Given the description of an element on the screen output the (x, y) to click on. 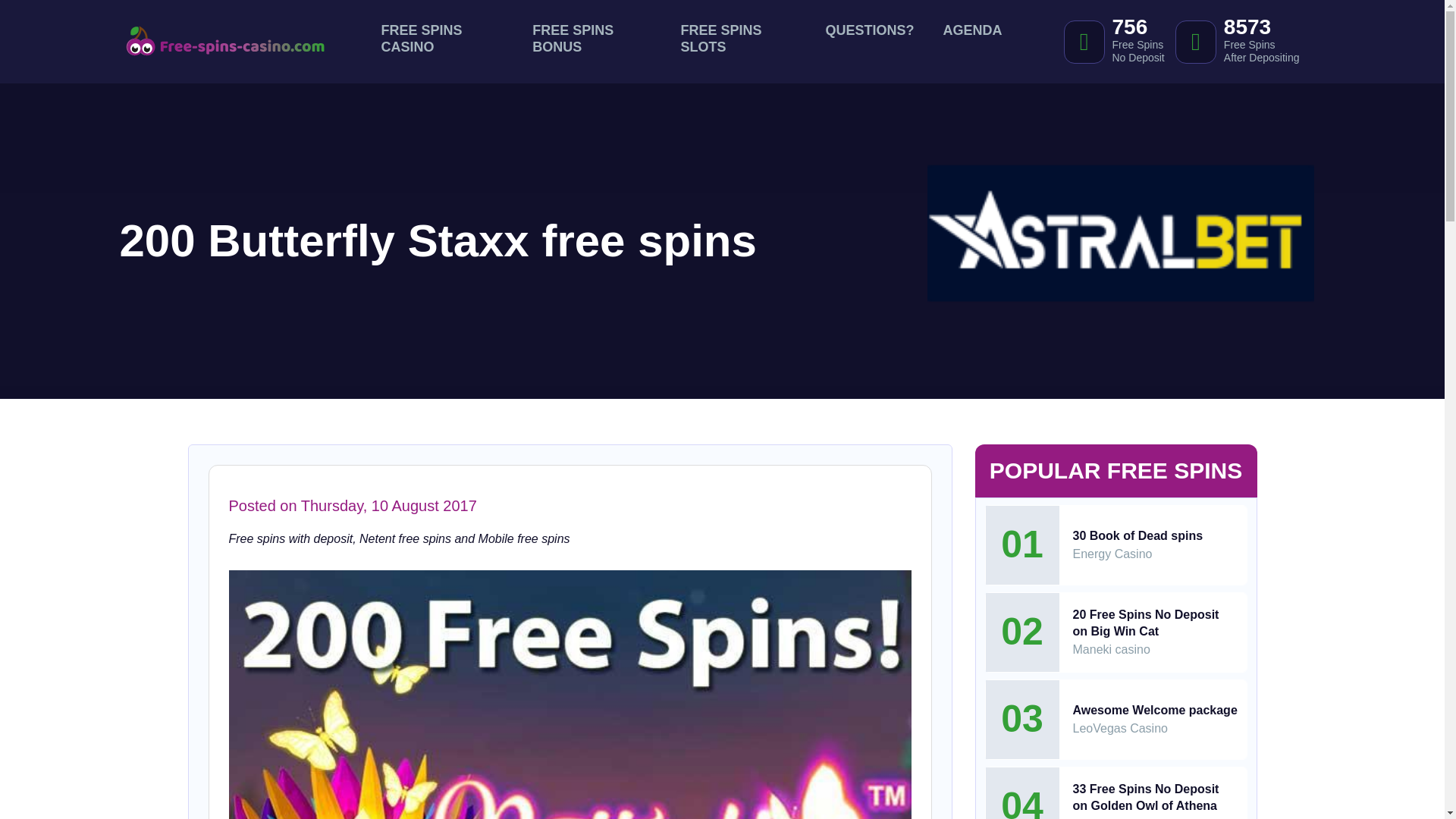
Mobile free spins (524, 538)
AGENDA (971, 33)
Awesome Welcome package (1153, 710)
FREE SPINS SLOTS (738, 41)
Questions? (869, 41)
Free Spins Casino (441, 41)
betchan casino 33 free spins (1144, 797)
Free spins with deposit (1249, 41)
Agenda (290, 538)
Netent free spins (971, 41)
Home of Free Spins Casino (405, 538)
